Given the description of an element on the screen output the (x, y) to click on. 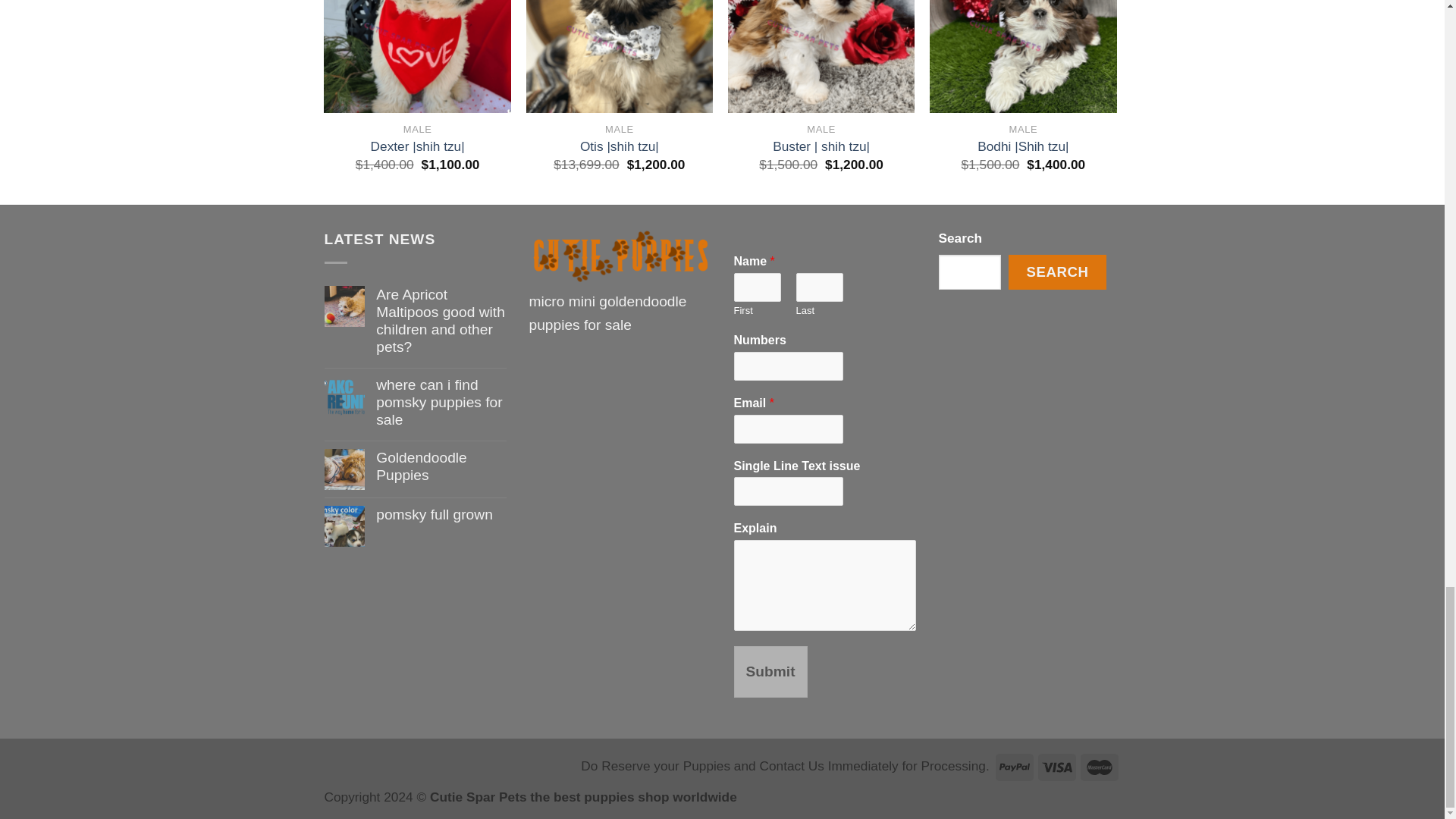
where can i find pomsky puppies for sale (440, 401)
Are Apricot Maltipoos good with children and other pets? (440, 320)
Goldendoodle Puppies (440, 466)
pomsky full grown (440, 514)
